Given the description of an element on the screen output the (x, y) to click on. 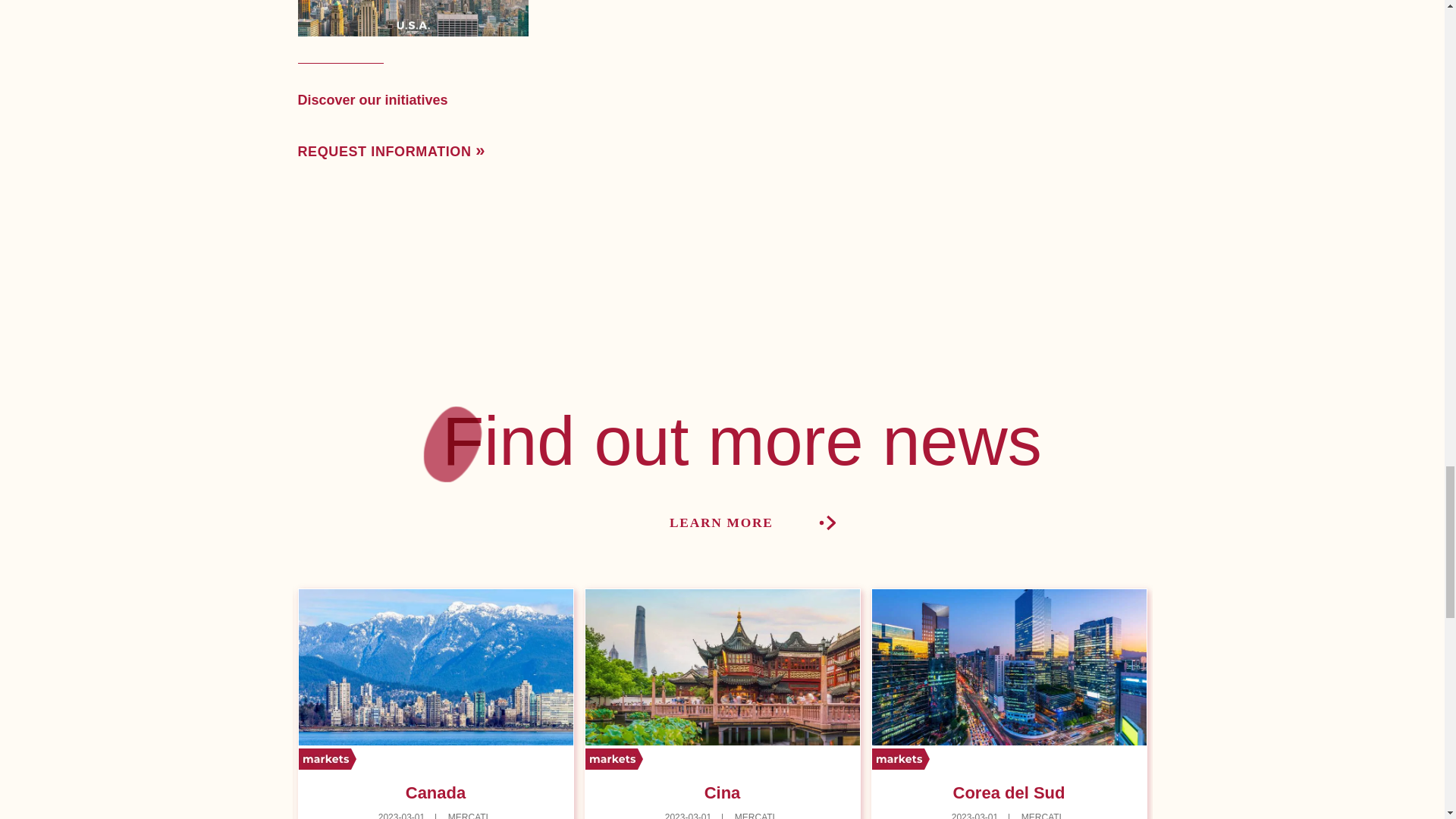
Cina (722, 792)
Corea del Sud (1009, 792)
Canada (435, 792)
LEARN MORE (752, 524)
LEARN MORE (752, 524)
